Given the description of an element on the screen output the (x, y) to click on. 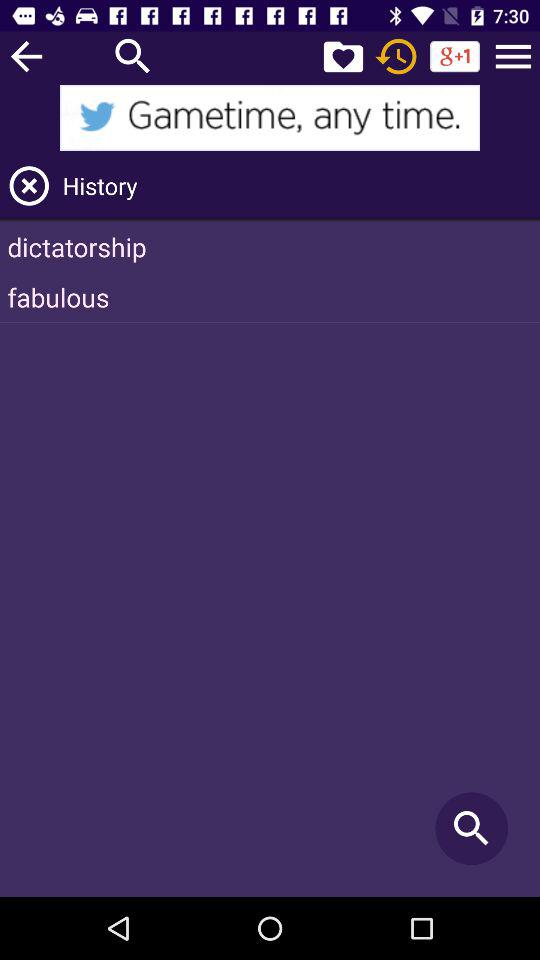
time out (396, 56)
